Given the description of an element on the screen output the (x, y) to click on. 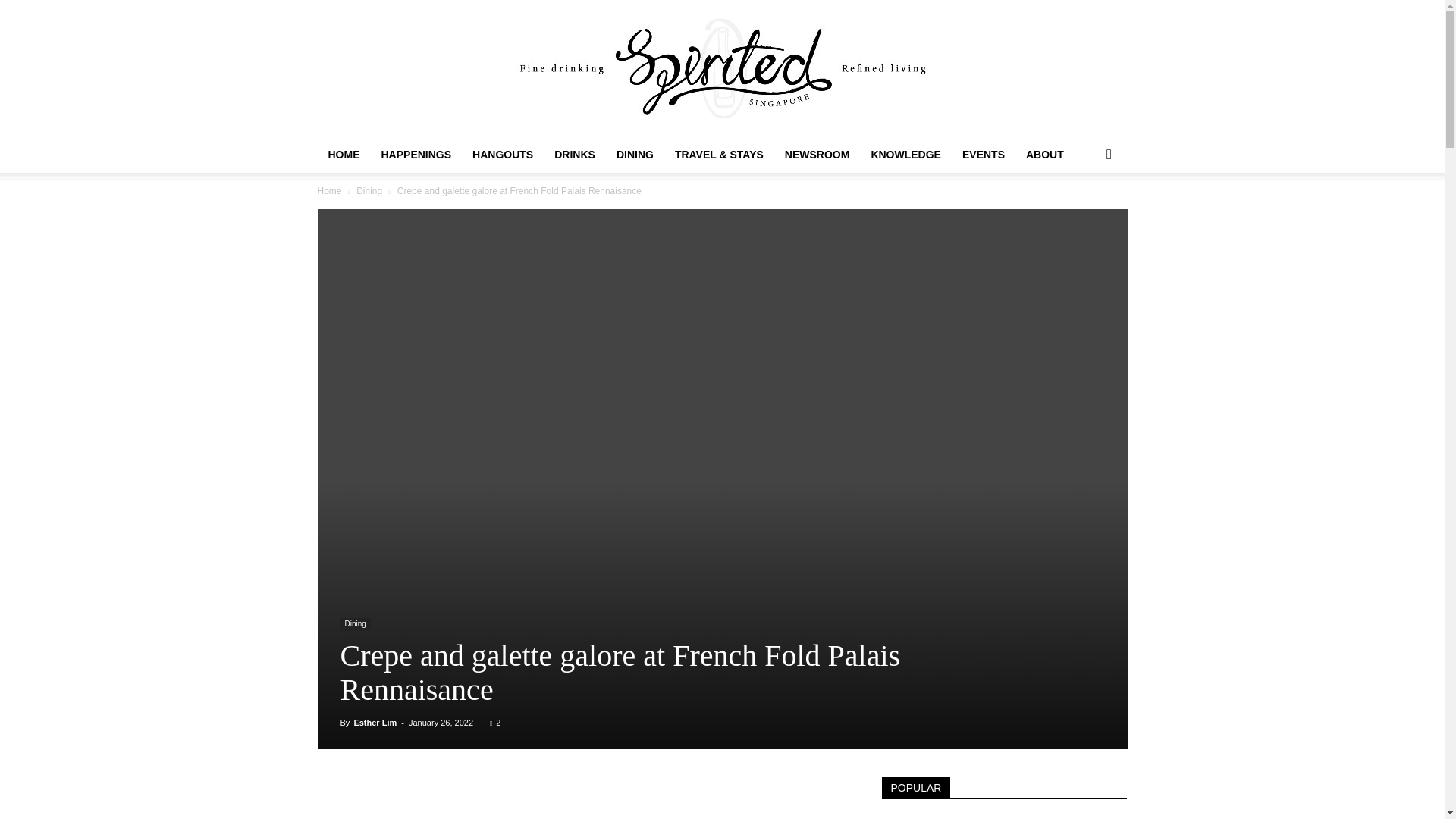
DRINKS (574, 154)
EVENTS (983, 154)
Home (328, 190)
DINING (634, 154)
HANGOUTS (502, 154)
HOME (343, 154)
HAPPENINGS (415, 154)
KNOWLEDGE (906, 154)
Your guide to a more refined drinking and dining lifestyle. (721, 68)
View all posts in Dining (368, 190)
